Given the description of an element on the screen output the (x, y) to click on. 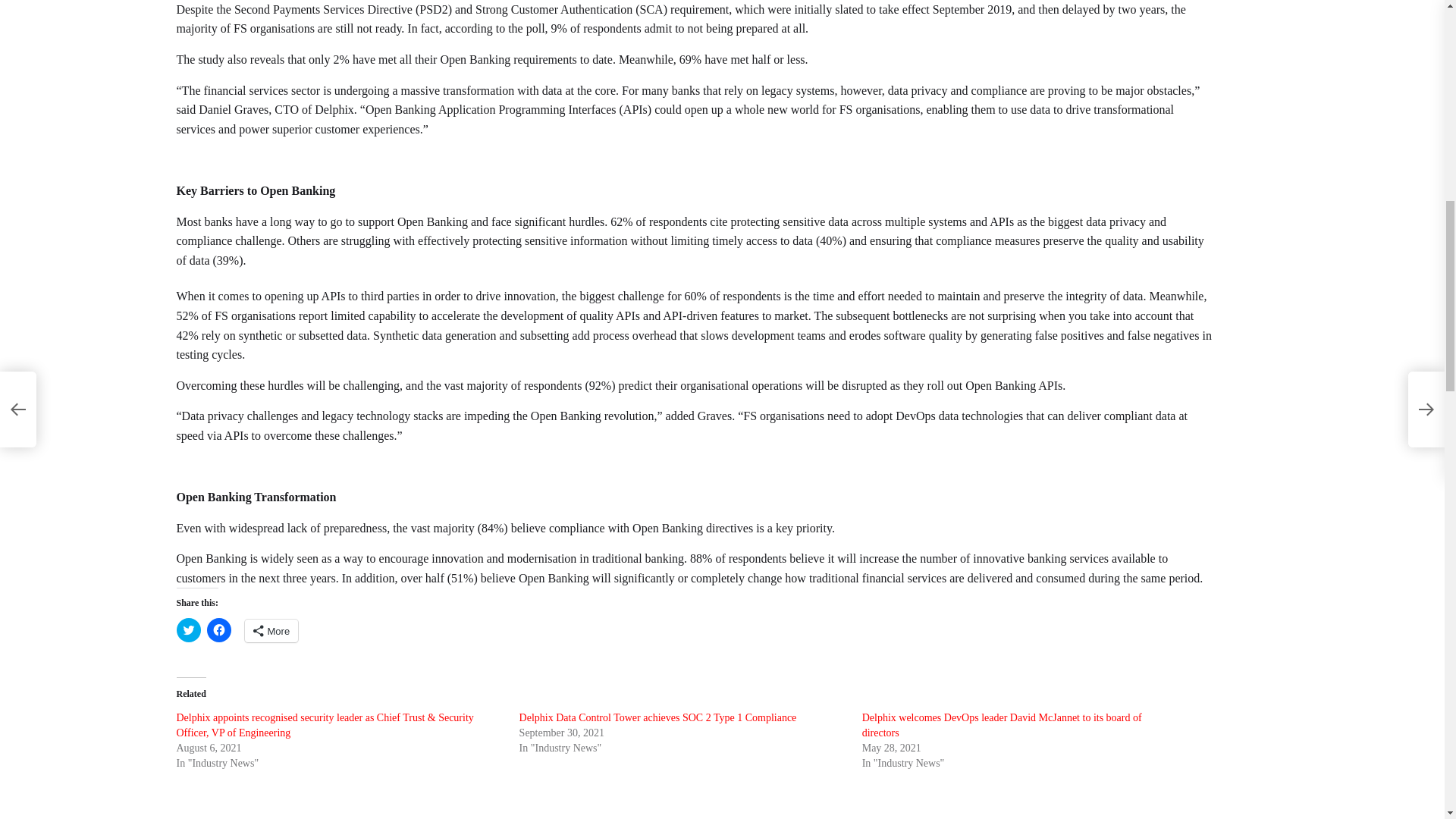
Delphix Data Control Tower achieves SOC 2 Type 1 Compliance (657, 717)
Click to share on Facebook (218, 630)
Click to share on Twitter (188, 630)
